Given the description of an element on the screen output the (x, y) to click on. 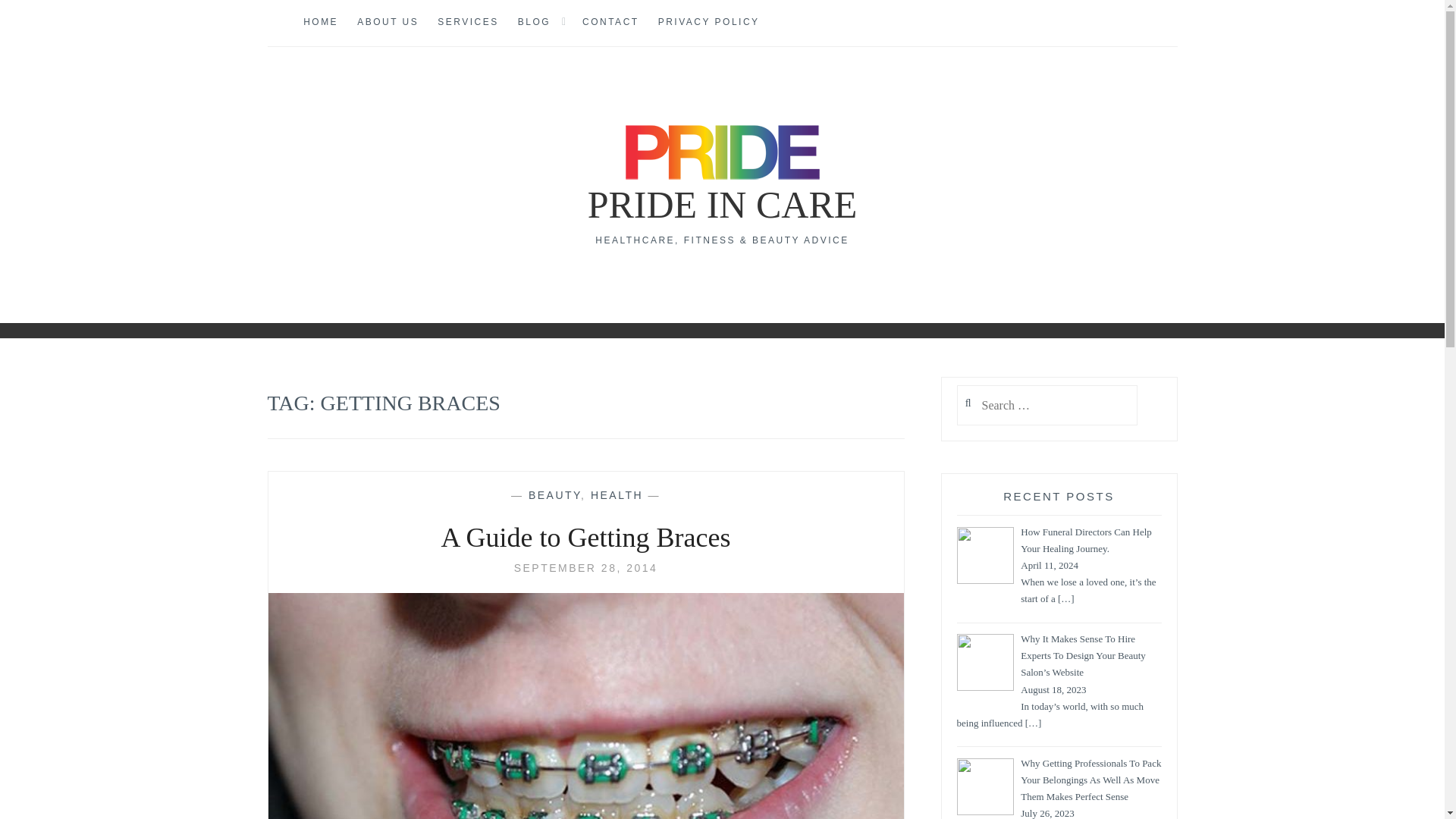
ABOUT US (387, 22)
CONTACT (610, 22)
How Funeral Directors Can Help Your Healing Journey. (1085, 541)
PRIVACY POLICY (709, 22)
HOME (319, 22)
BLOG (534, 22)
HEALTH (617, 494)
Search (42, 19)
A Guide to Getting Braces (585, 567)
BEAUTY (554, 494)
A Guide to Getting Braces (585, 538)
SEPTEMBER 28, 2014 (585, 567)
SERVICES (467, 22)
PRIDE IN CARE (722, 204)
